Given the description of an element on the screen output the (x, y) to click on. 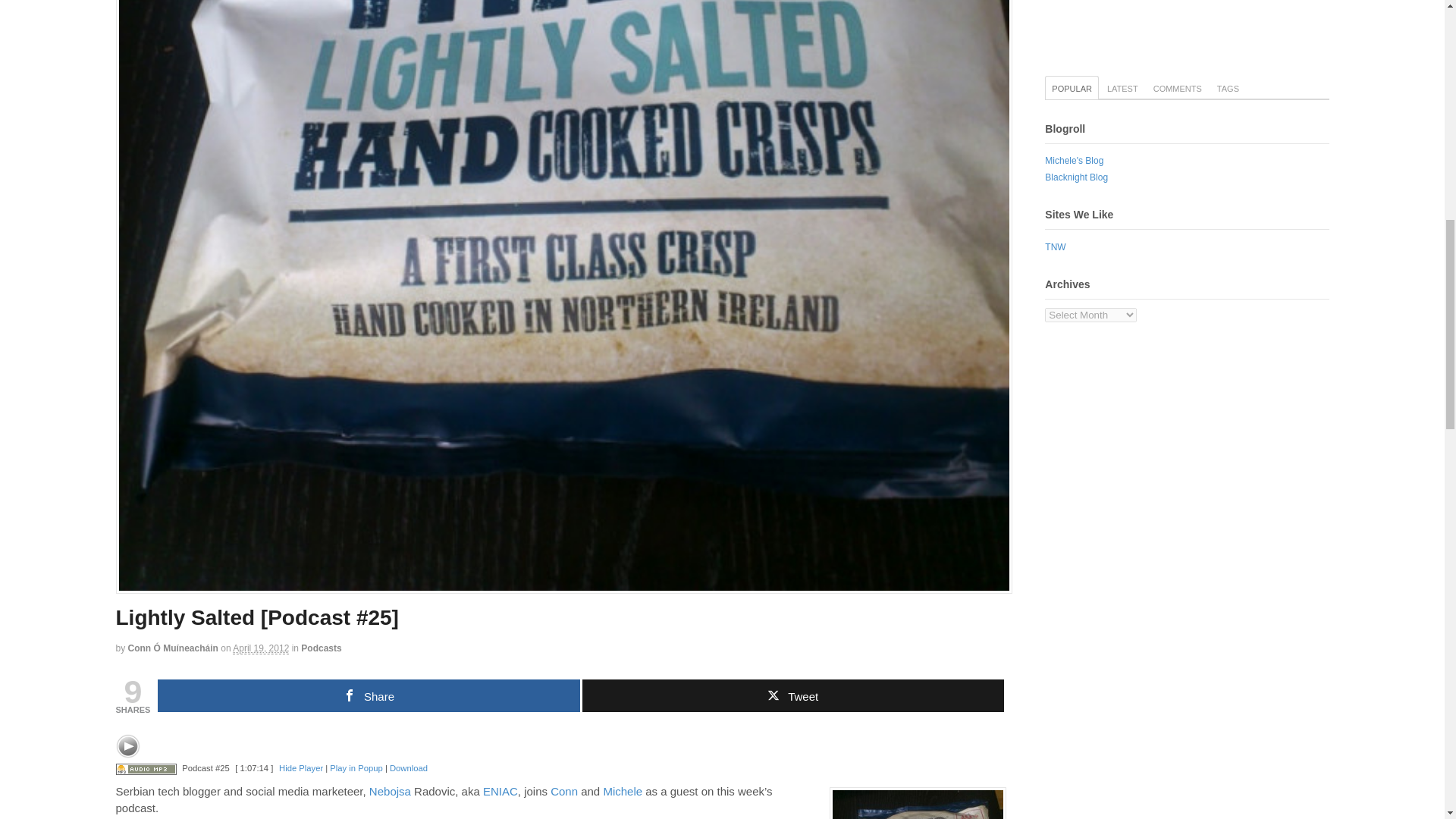
Conn (564, 790)
Podcasts (320, 647)
Michele (622, 790)
View all items in Podcasts (320, 647)
Taytos - as served on the Titanic, didn't you know? (917, 803)
ENIAC (500, 790)
Hide Player (301, 768)
Play in Popup (355, 768)
Share (368, 695)
Download (409, 768)
Nebojsa (389, 790)
Tweet (793, 695)
